Given the description of an element on the screen output the (x, y) to click on. 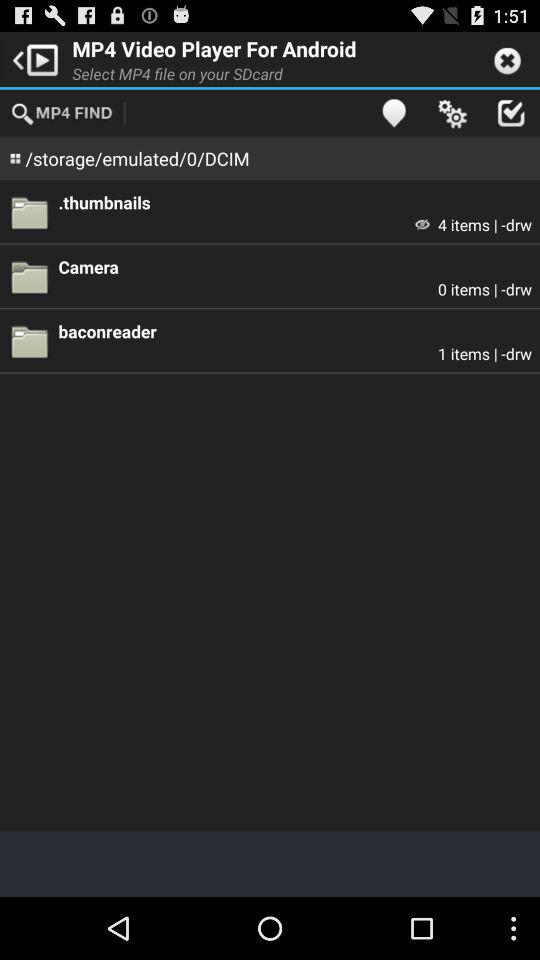
open icon to the left of the mp4 video player app (32, 58)
